Given the description of an element on the screen output the (x, y) to click on. 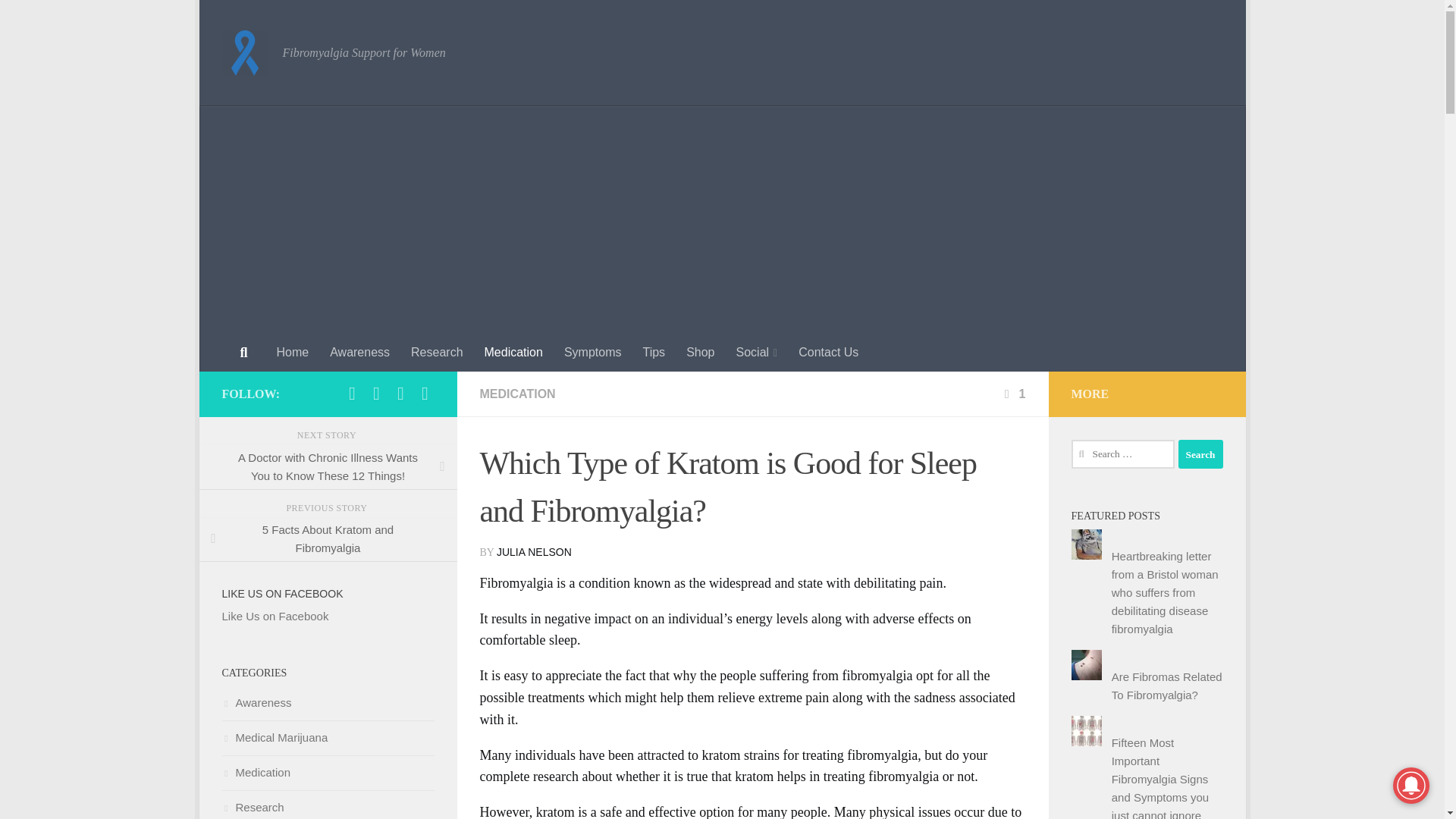
Tips (653, 352)
Search (1200, 453)
Skip to content (263, 20)
Home (291, 352)
Social (756, 352)
Awareness (359, 352)
Follow us on Facebook (351, 393)
JULIA NELSON (534, 551)
Research (436, 352)
Search (1200, 453)
Contact Us (828, 352)
Shop (700, 352)
MEDICATION (516, 393)
Posts by Julia Nelson (534, 551)
